Given the description of an element on the screen output the (x, y) to click on. 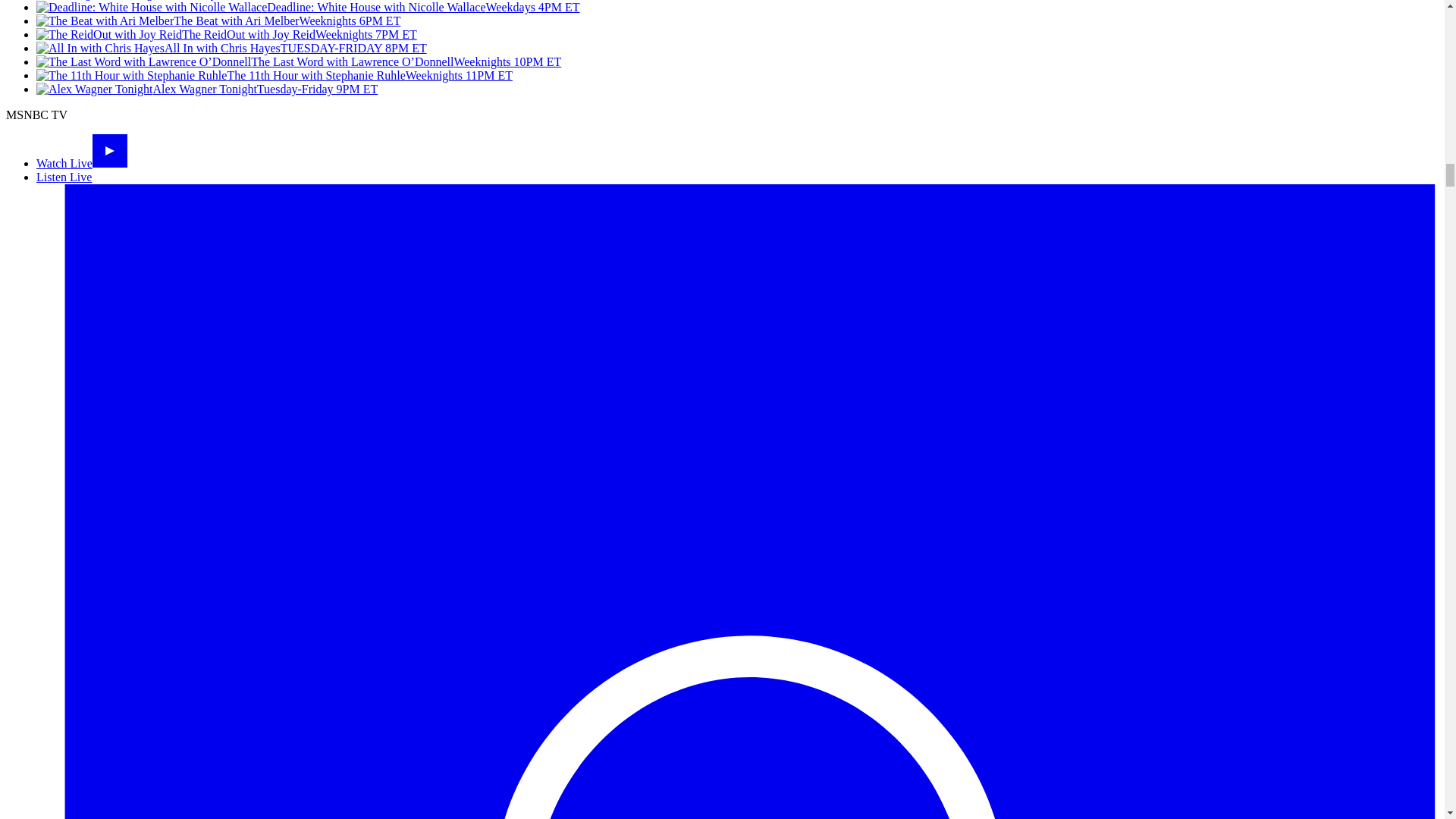
Watch Live (82, 163)
All In with Chris HayesTUESDAY-FRIDAY 8PM ET (231, 47)
The Beat with Ari MelberWeeknights 6PM ET (218, 20)
Deadline: White House with Nicolle WallaceWeekdays 4PM ET (307, 6)
The ReidOut with Joy ReidWeeknights 7PM ET (226, 33)
The 11th Hour with Stephanie RuhleWeeknights 11PM ET (274, 74)
Alex Wagner TonightTuesday-Friday 9PM ET (206, 88)
